Given the description of an element on the screen output the (x, y) to click on. 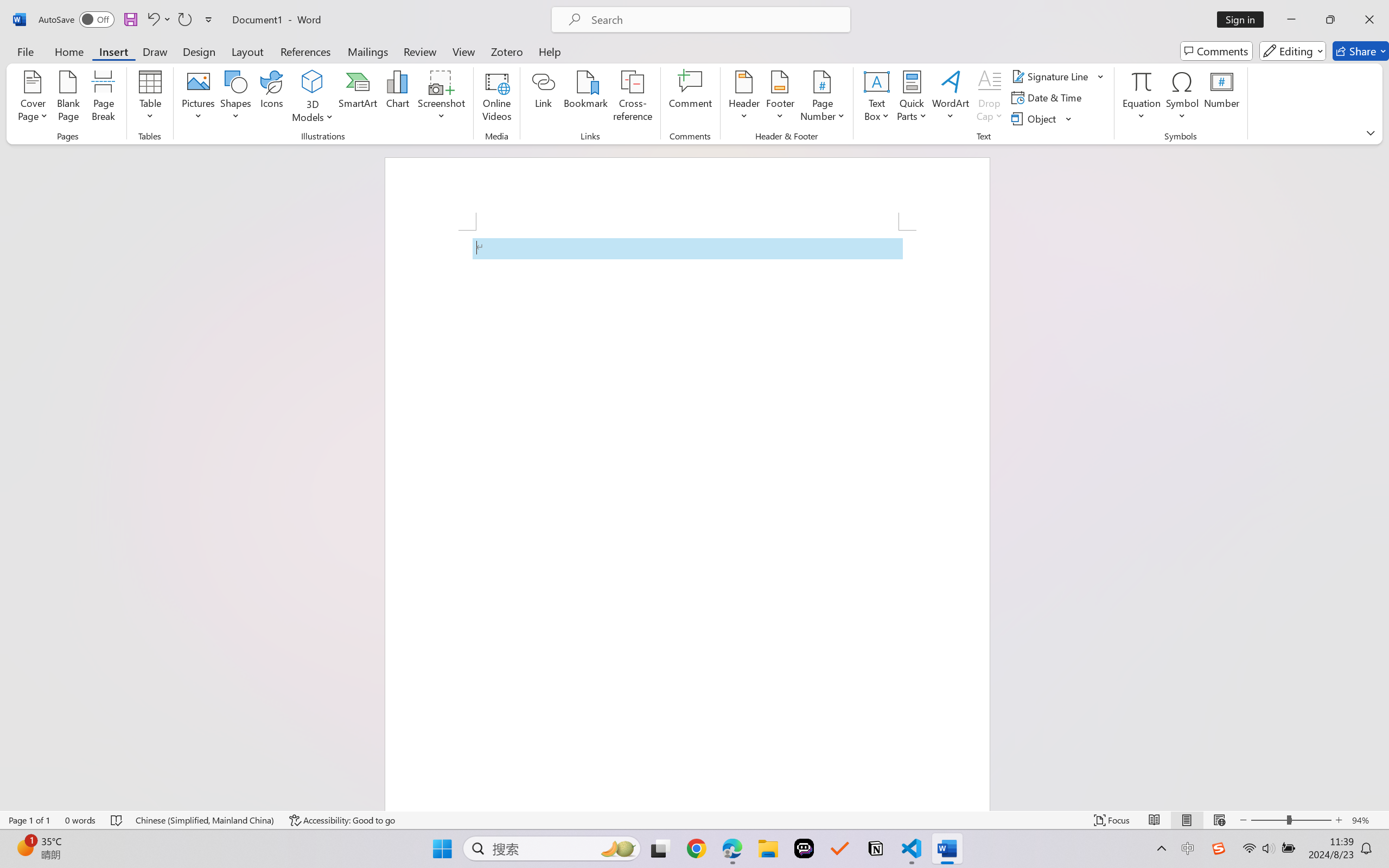
Equation (1141, 81)
Cover Page (33, 97)
WordArt (950, 97)
Signature Line (1051, 75)
Online Videos... (496, 97)
Quick Parts (912, 97)
